Given the description of an element on the screen output the (x, y) to click on. 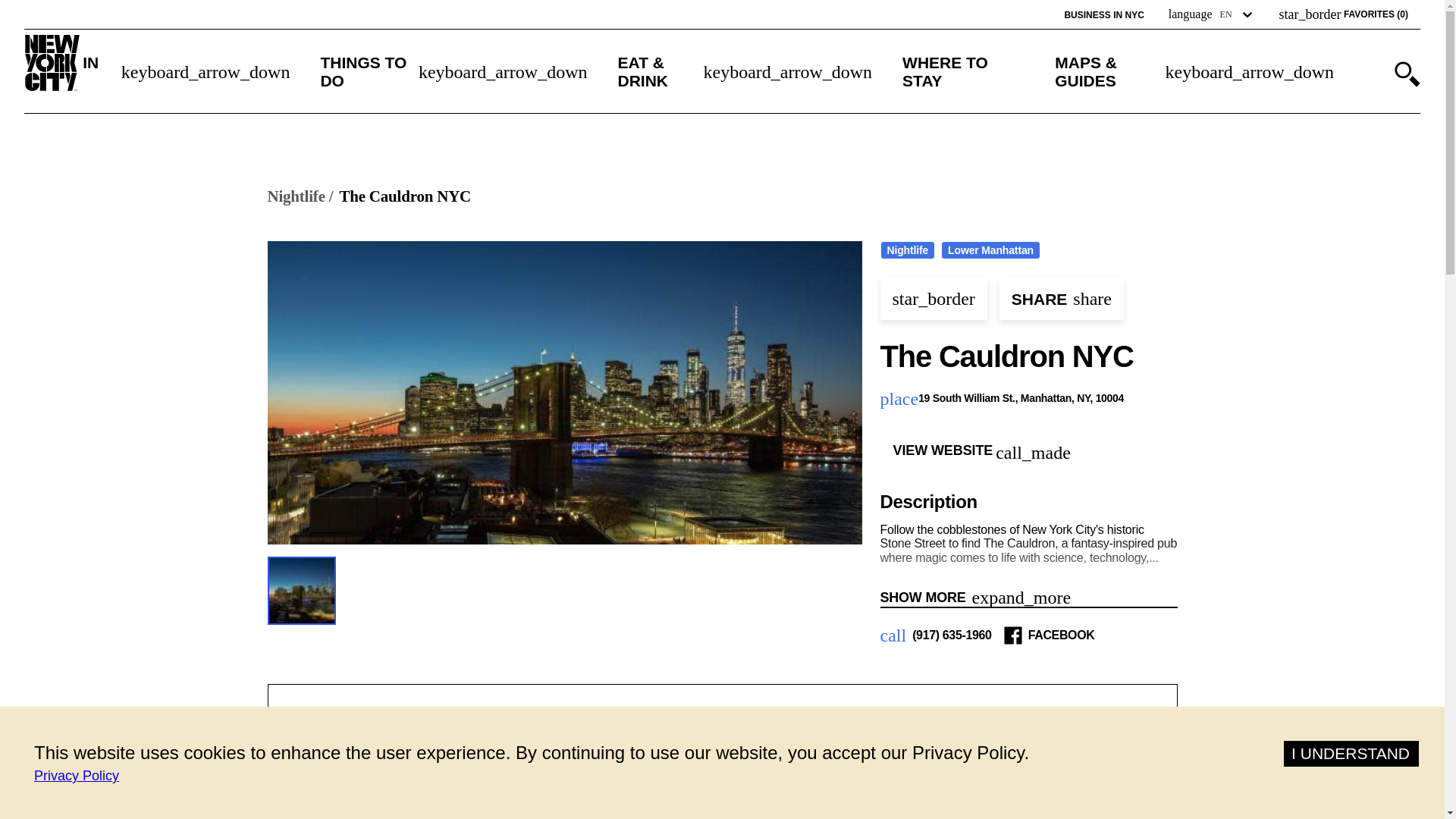
BUSINESS IN NYC (1103, 14)
19 South William St., Manhattan, NY, 10004 (1022, 398)
FACEBOOK (1060, 635)
VISIT WEBSITE (793, 797)
The Cauldron NYC (404, 196)
Skip to main content (78, 11)
